Given the description of an element on the screen output the (x, y) to click on. 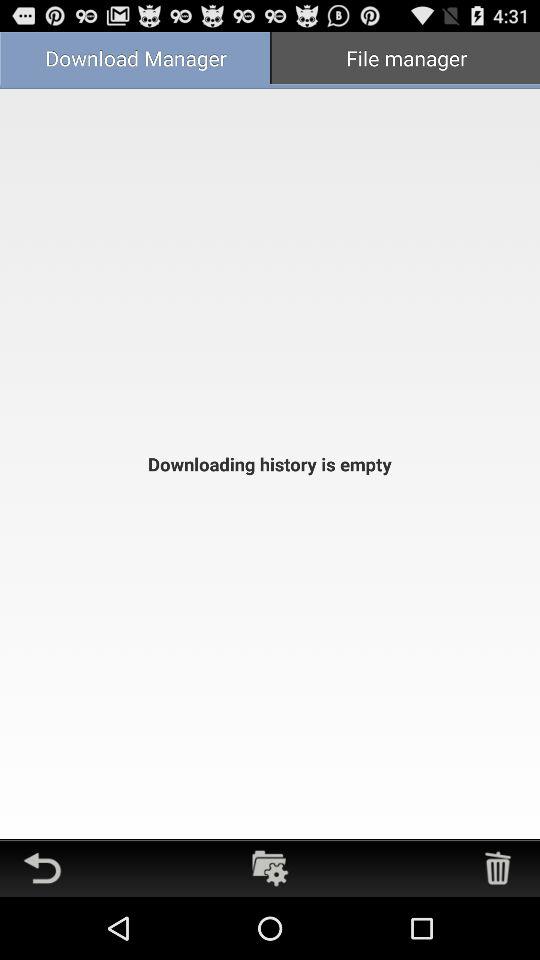
tap app next to download manager (405, 60)
